Given the description of an element on the screen output the (x, y) to click on. 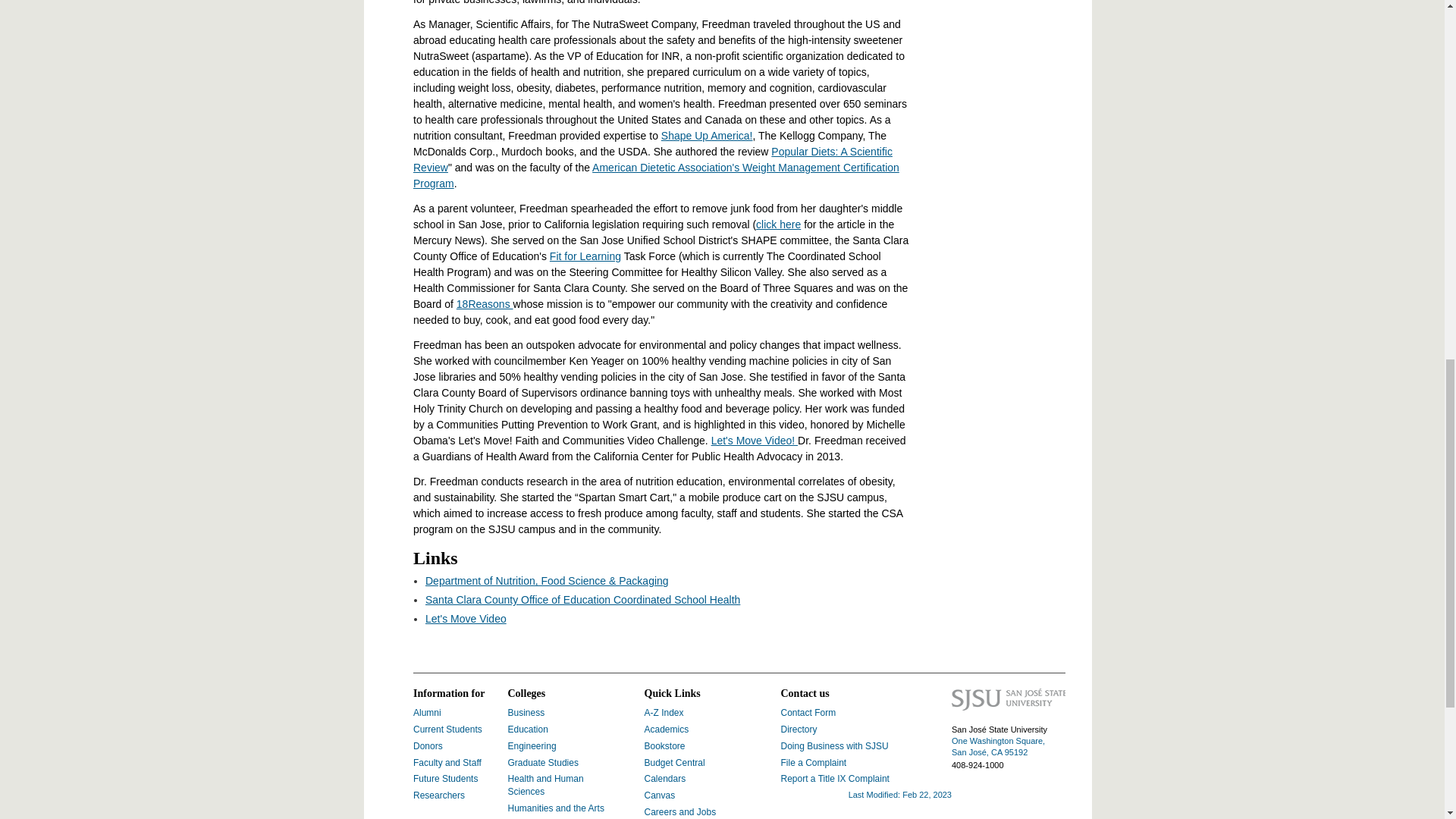
Let's Move Video! (754, 440)
Let's Move Video (465, 618)
Shape Up America! (706, 135)
Let's Move Video (465, 618)
Current Students (447, 728)
Alumni (427, 712)
Donors (427, 746)
Future Students (445, 778)
Popular Diets: A Scientific Review (652, 159)
